Given the description of an element on the screen output the (x, y) to click on. 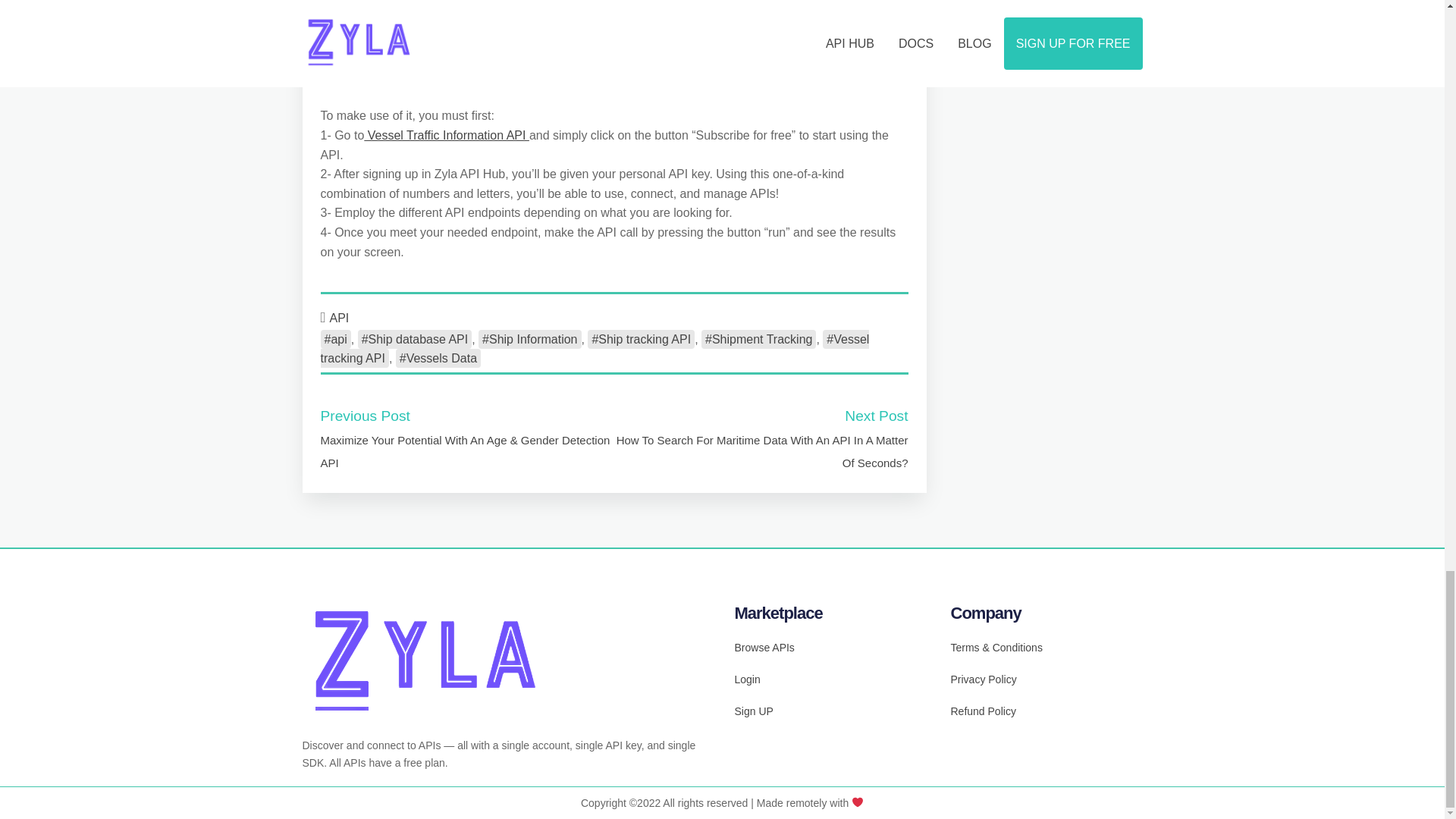
API (339, 318)
 Vessel Traffic Information API  (446, 134)
Previous Post (364, 415)
Next Post (875, 415)
